Given the description of an element on the screen output the (x, y) to click on. 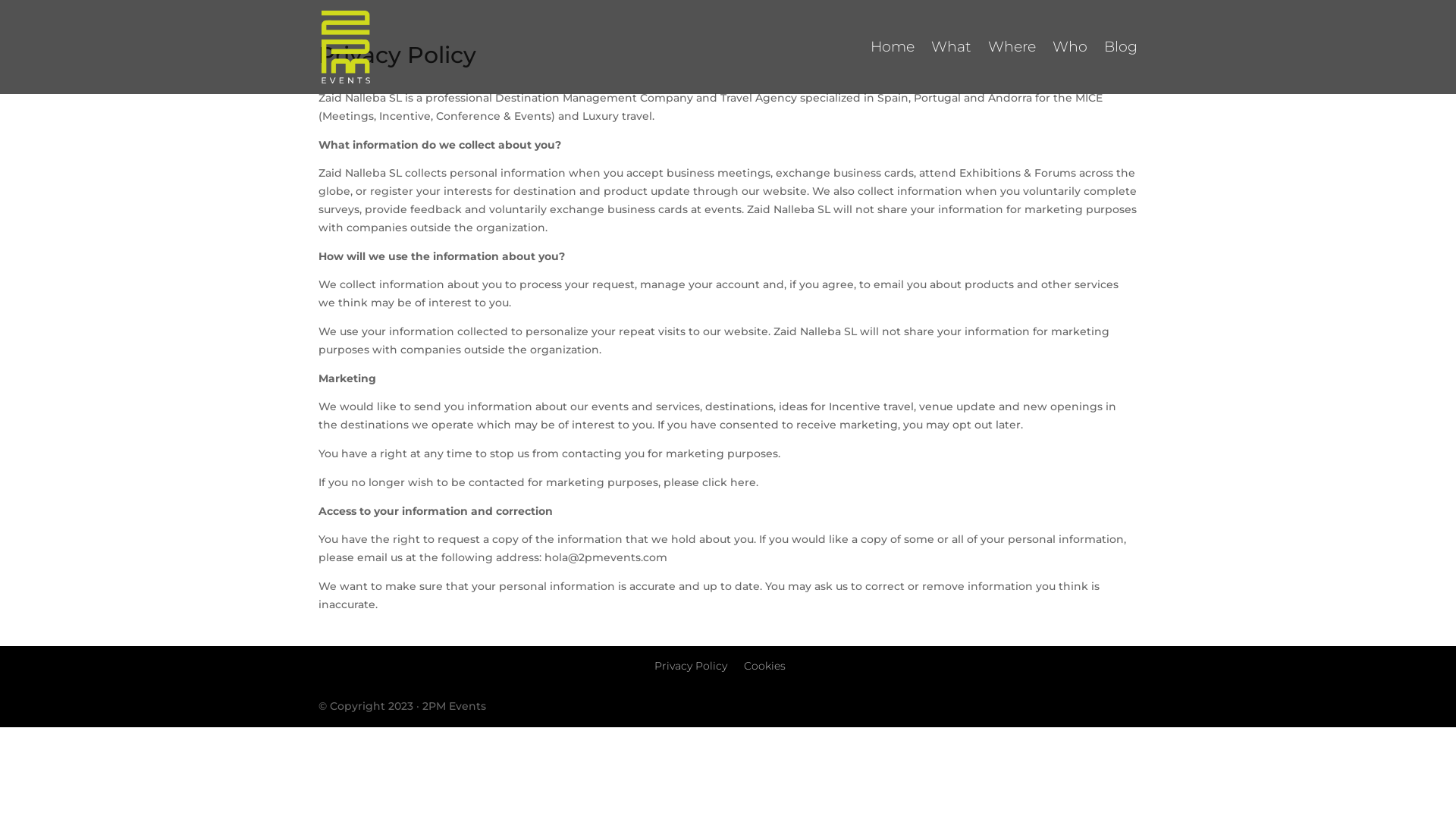
Blog Element type: text (1120, 67)
Cookies Element type: text (763, 665)
What Element type: text (951, 67)
Where Element type: text (1011, 67)
Privacy Policy Element type: text (689, 665)
Home Element type: text (892, 67)
Who Element type: text (1069, 67)
